Given the description of an element on the screen output the (x, y) to click on. 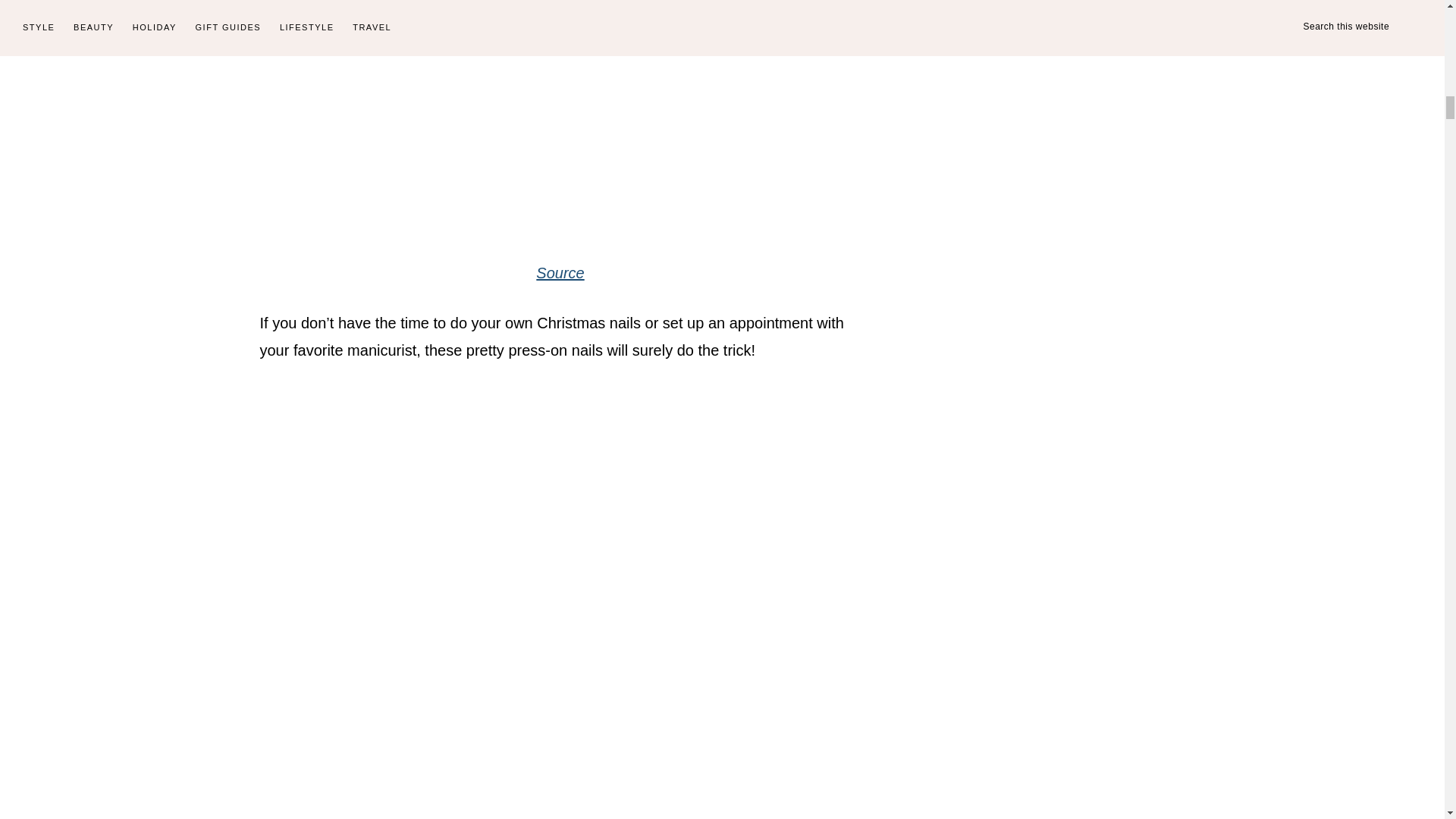
Source (559, 272)
